Given the description of an element on the screen output the (x, y) to click on. 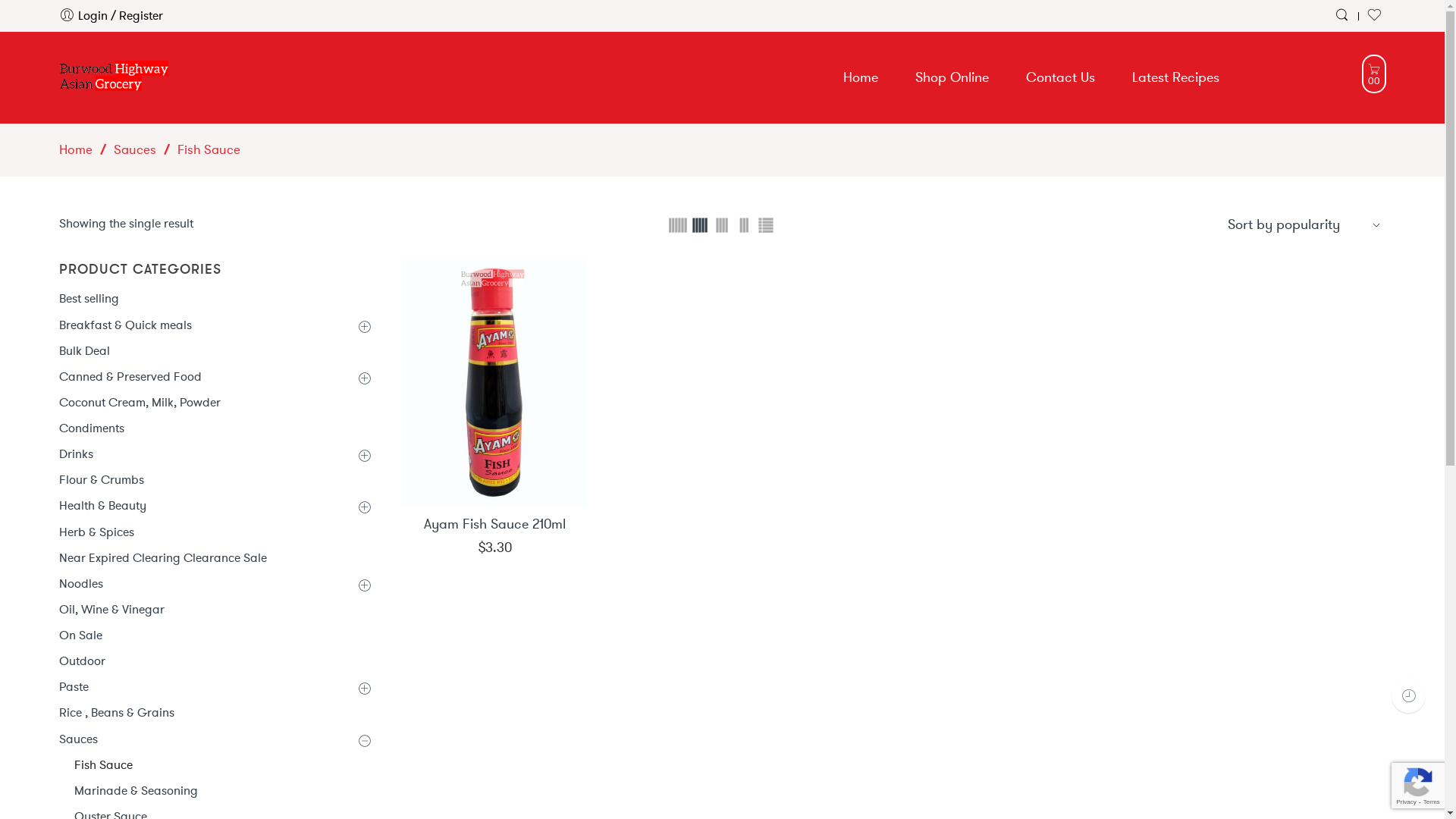
Marinade & Seasoning Element type: text (223, 790)
Coconut Cream, Milk, Powder Element type: text (215, 402)
Health & Beauty Element type: text (215, 505)
Outdoor Element type: text (215, 660)
Home Element type: text (877, 77)
Rice , Beans & Grains Element type: text (215, 712)
Ayam Fish Sauce 210ml Element type: text (493, 524)
Search Element type: hover (1343, 15)
Products viewed Element type: hover (1408, 695)
Burwood Highway Asian Grocery - Asian Grocery Australia Element type: hover (114, 73)
Best selling Element type: text (215, 298)
Canned & Preserved Food Element type: text (215, 376)
search Element type: text (68, 48)
Sauces Element type: text (215, 738)
Noodles Element type: text (215, 583)
Home Element type: text (75, 149)
Paste Element type: text (215, 686)
Login / Register Element type: text (111, 15)
Fish Sauce Element type: text (223, 764)
00 Element type: text (1373, 73)
Breakfast & Quick meals Element type: text (215, 324)
Bulk Deal Element type: text (215, 350)
Oil, Wine & Vinegar Element type: text (215, 609)
Wishlist Element type: hover (1376, 15)
On Sale Element type: text (215, 634)
Contact Us Element type: text (1076, 77)
Condiments Element type: text (215, 427)
Latest Recipes Element type: text (1191, 77)
Sauces Element type: text (134, 149)
Drinks Element type: text (215, 453)
Near Expired Clearing Clearance Sale Element type: text (215, 557)
Flour & Crumbs Element type: text (215, 479)
Herb & Spices Element type: text (215, 531)
Ayam Fish Sauce 210ml Element type: hover (493, 382)
Shop Online Element type: text (968, 77)
